Given the description of an element on the screen output the (x, y) to click on. 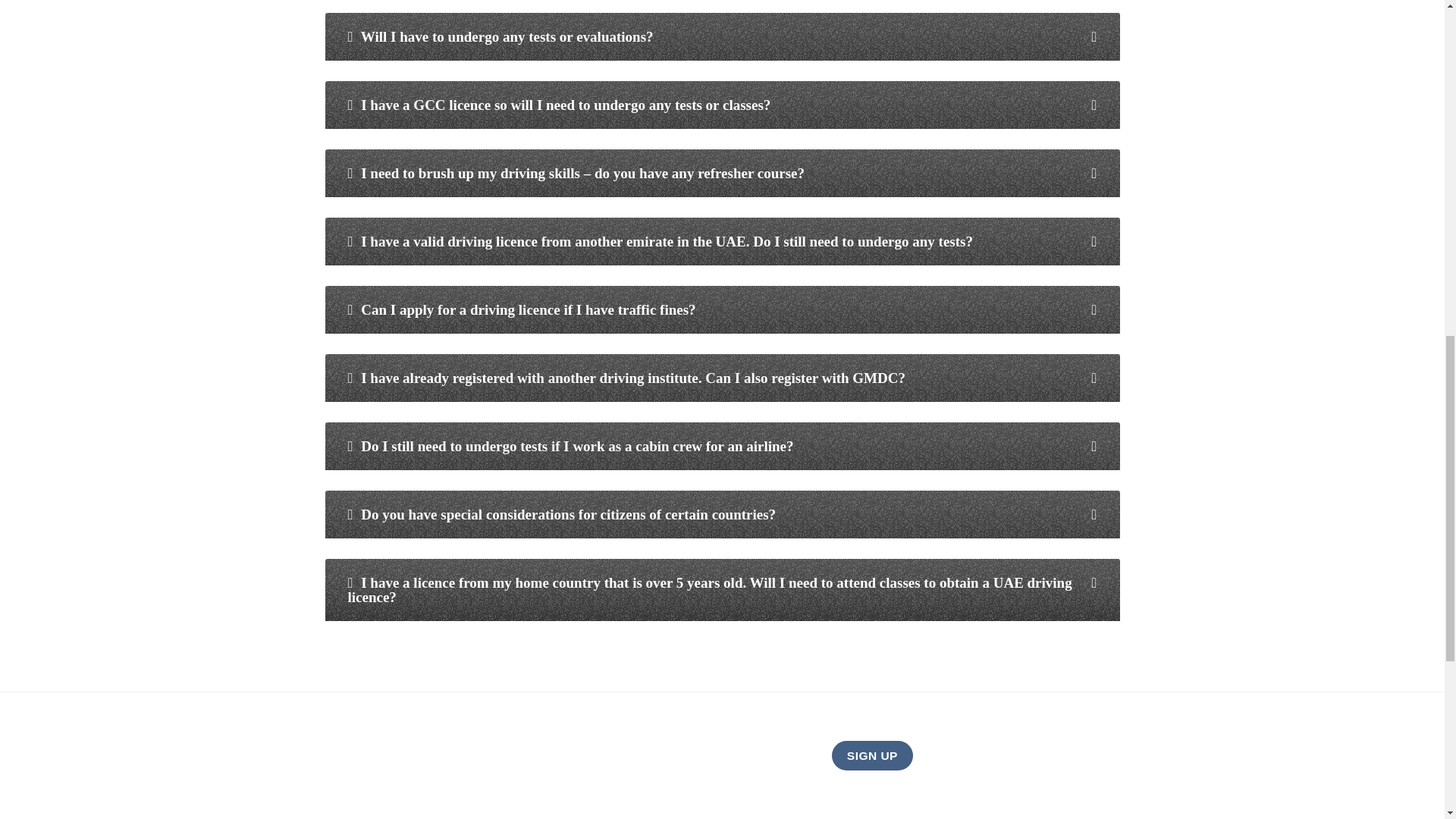
Sign Up (871, 755)
